Given the description of an element on the screen output the (x, y) to click on. 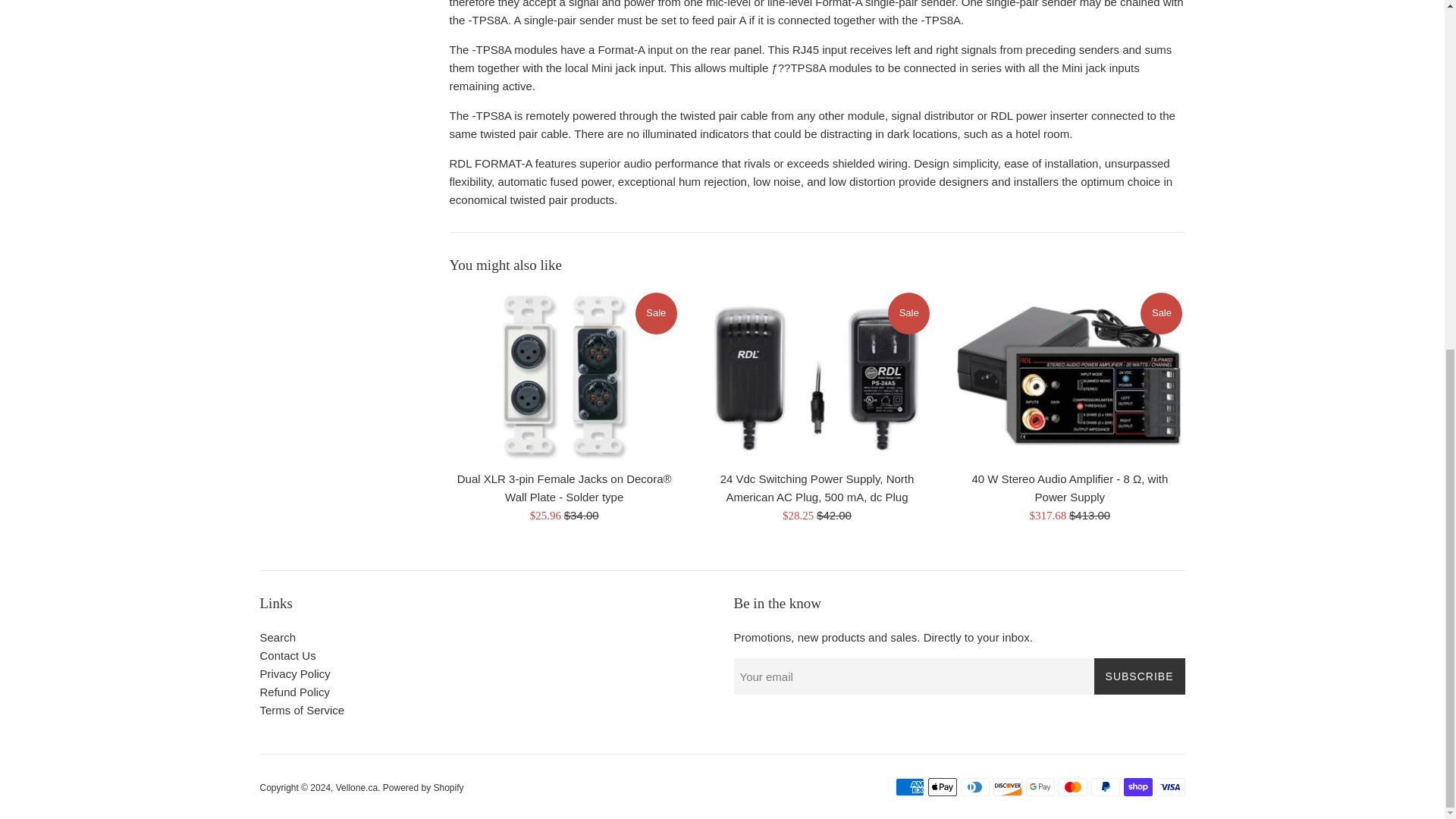
Refund Policy (294, 691)
Apple Pay (942, 787)
Discover (1007, 787)
SUBSCRIBE (1139, 676)
Contact Us (287, 655)
Search (277, 636)
Google Pay (1039, 787)
Terms of Service (301, 709)
Privacy Policy (294, 673)
